Given the description of an element on the screen output the (x, y) to click on. 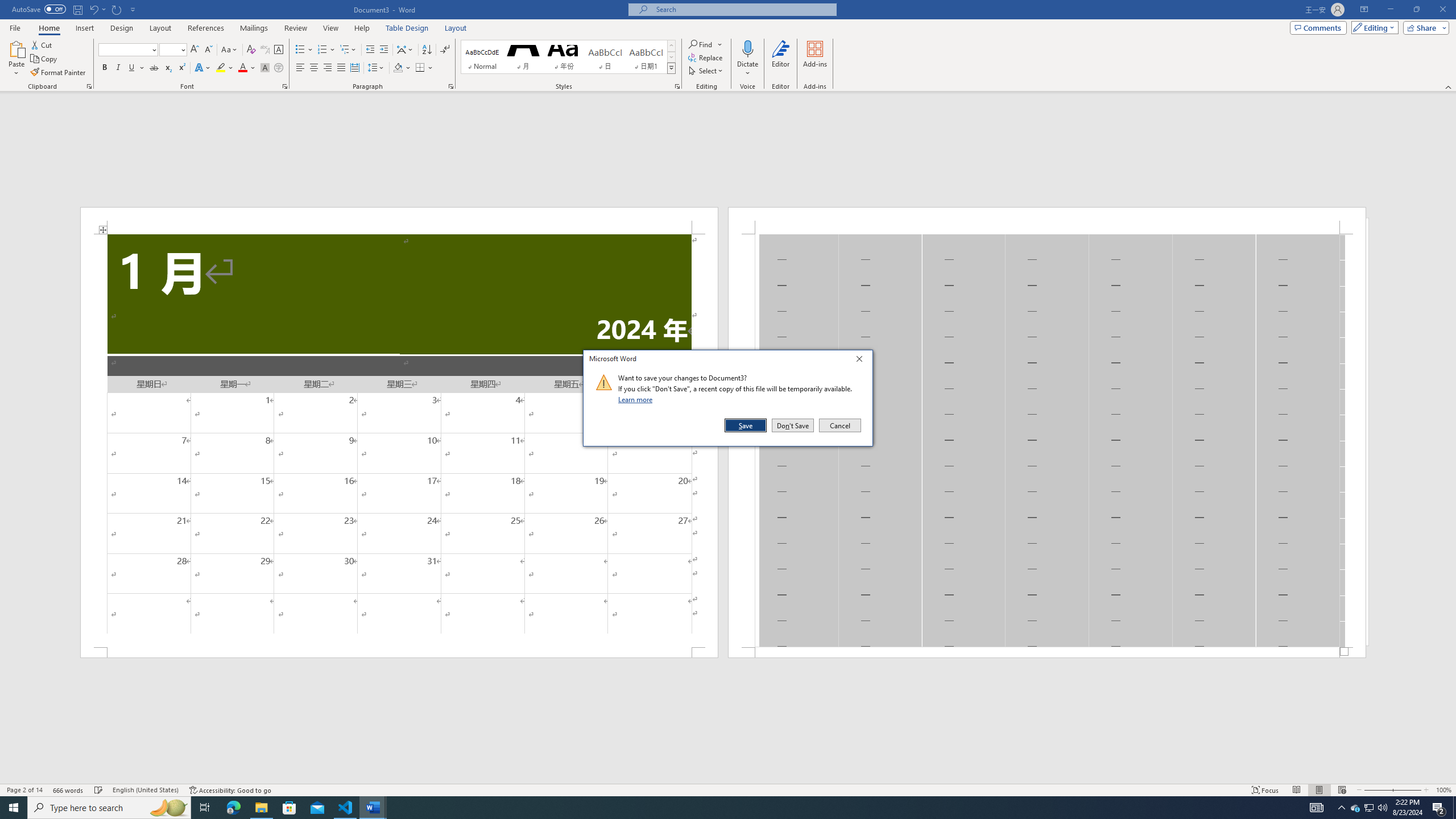
Styles (670, 67)
AutomationID: QuickStylesGallery (568, 56)
Clear Formatting (250, 49)
Styles... (676, 85)
Justify (340, 67)
Row Down (670, 56)
Shading (402, 67)
AutomationID: 4105 (1316, 807)
Language English (United States) (145, 790)
Enclose Characters... (278, 67)
Office Clipboard... (88, 85)
